Given the description of an element on the screen output the (x, y) to click on. 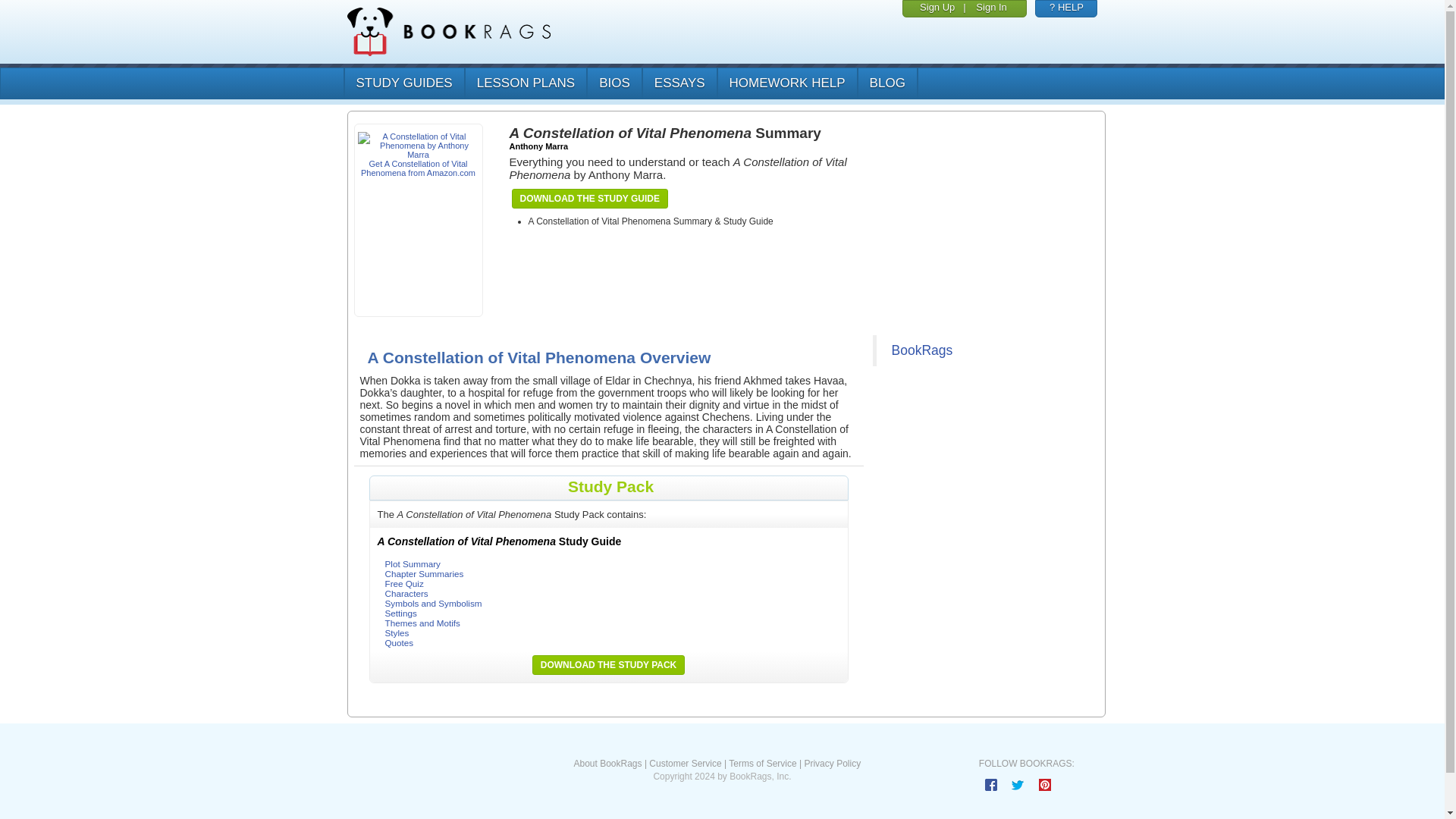
HOMEWORK HELP (786, 82)
DOWNLOAD THE STUDY PACK (608, 665)
Quotes (399, 642)
BLOG (887, 82)
BIOS (614, 82)
Plot Summary (413, 563)
Terms of Service (762, 763)
Download the Study Guide (589, 198)
Get A Constellation of Vital Phenomena from Amazon.com (418, 158)
About BookRags (607, 763)
DOWNLOAD THE STUDY GUIDE (589, 198)
LESSON PLANS (525, 82)
Download the Study Pack (608, 665)
ESSAYS (679, 82)
STUDY GUIDES (402, 82)
